Given the description of an element on the screen output the (x, y) to click on. 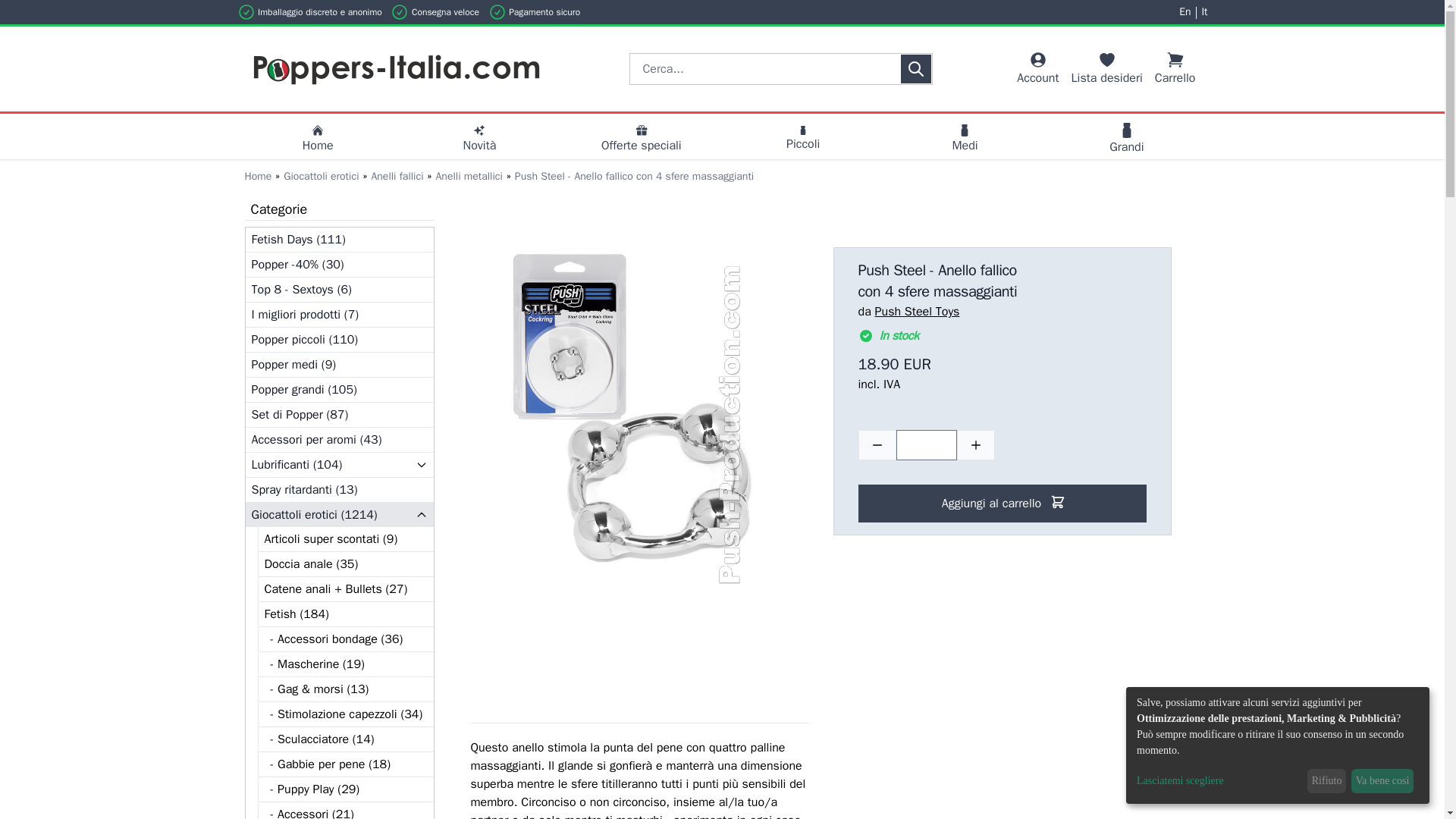
Search (915, 69)
Medi (964, 139)
Offerte speciali (1037, 68)
Home (641, 139)
Piccoli (316, 139)
Grandi (802, 139)
